Given the description of an element on the screen output the (x, y) to click on. 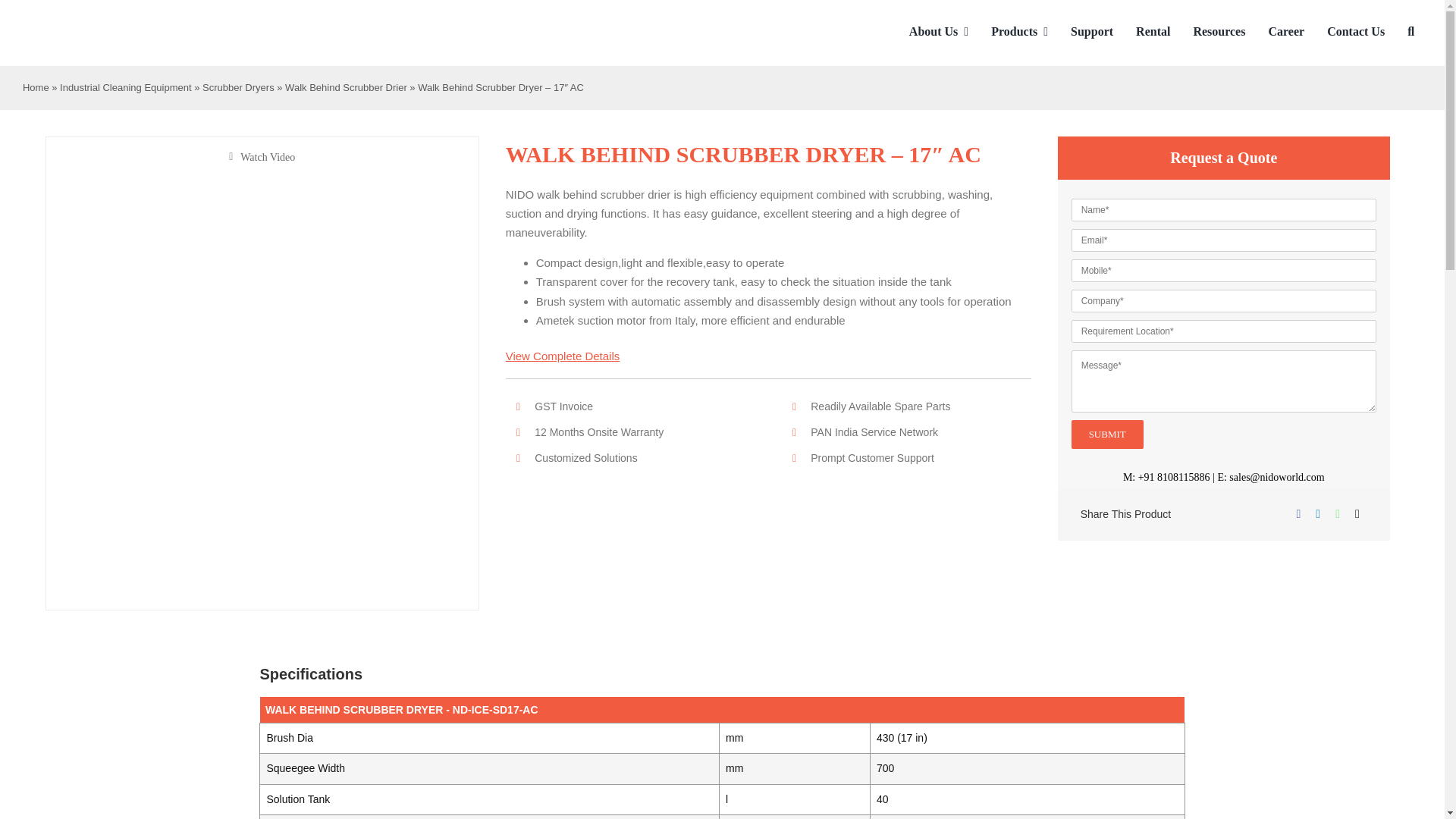
About Us (938, 31)
Search (1410, 31)
LinkedIn (1317, 514)
Email (1357, 514)
Facebook (1297, 514)
Products (1019, 31)
SUBMIT (1224, 330)
WhatsApp (1337, 514)
